Given the description of an element on the screen output the (x, y) to click on. 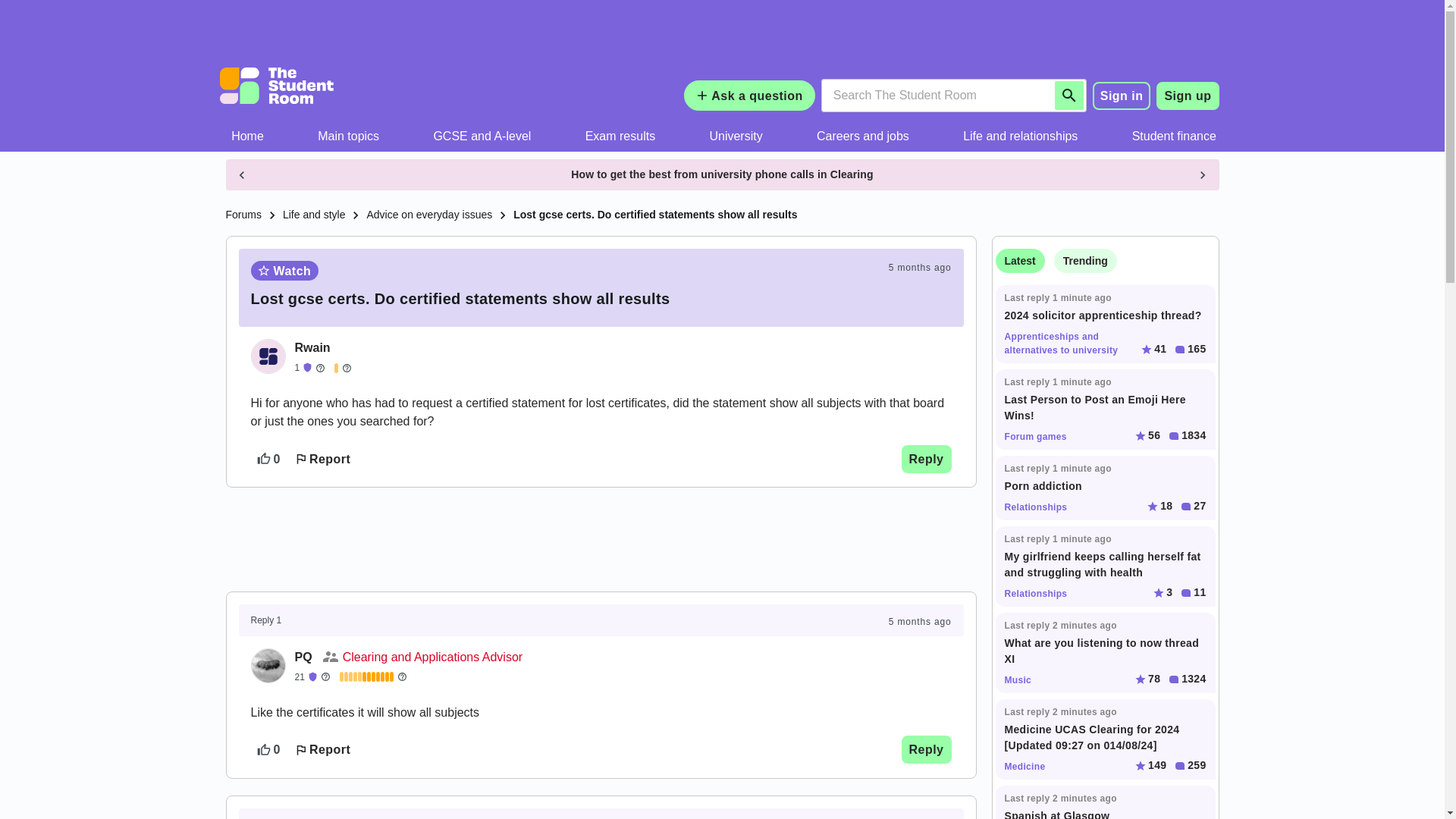
GCSE and A-level (481, 136)
Home (248, 136)
Ask a question (749, 95)
Main topics (348, 136)
Sign up (1187, 95)
Sign in (1122, 95)
Sign in (1122, 95)
